Given the description of an element on the screen output the (x, y) to click on. 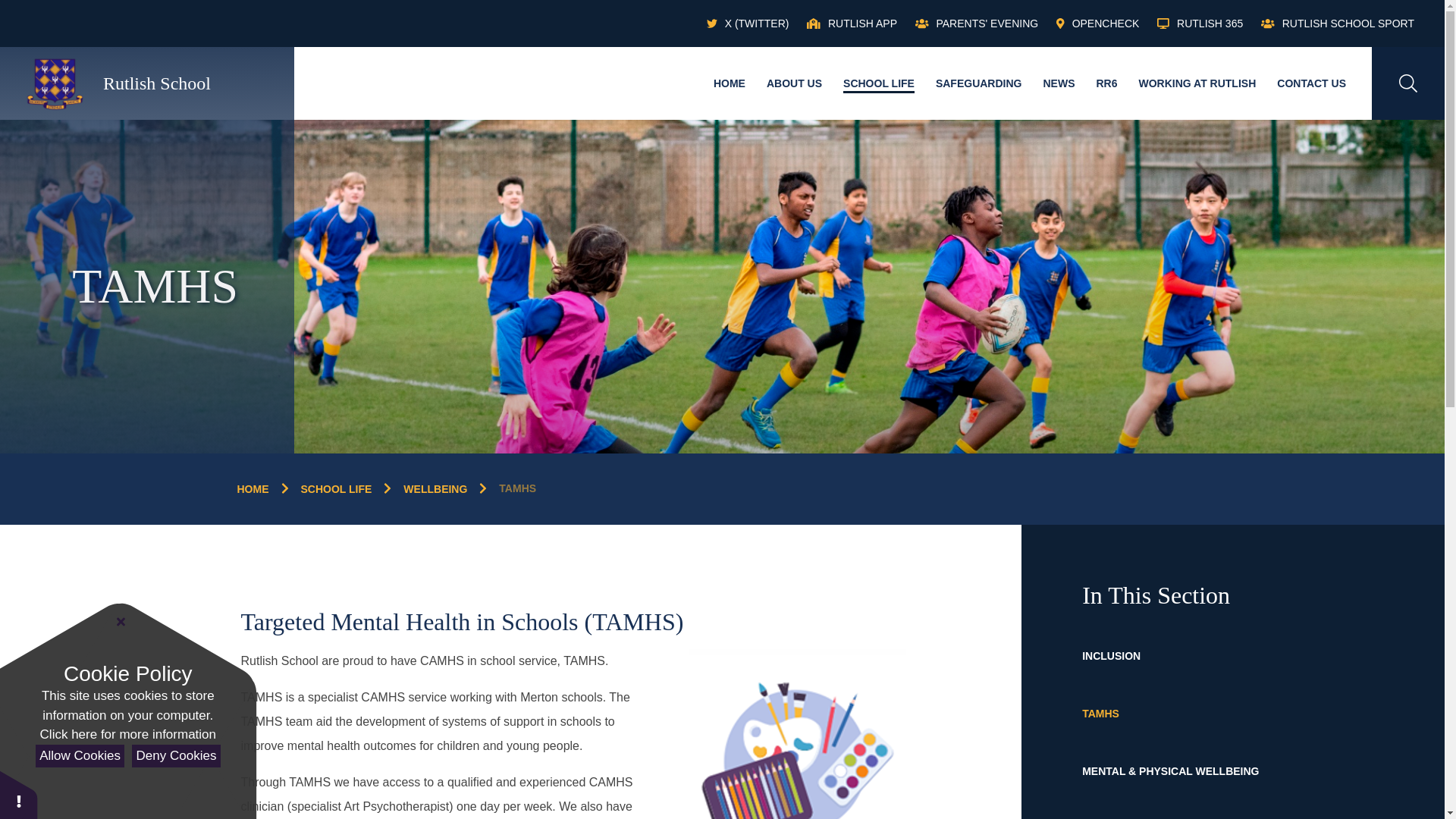
See cookie policy (127, 734)
Allow Cookies (78, 756)
RUTLISH SCHOOL SPORT (1336, 23)
OPENCHECK (1097, 23)
Deny Cookies (175, 756)
PARENTS' EVENING (976, 23)
Place2Be at Rutlish School (795, 734)
ABOUT US (793, 82)
RUTLISH 365 (1200, 23)
RUTLISH APP (851, 23)
